Given the description of an element on the screen output the (x, y) to click on. 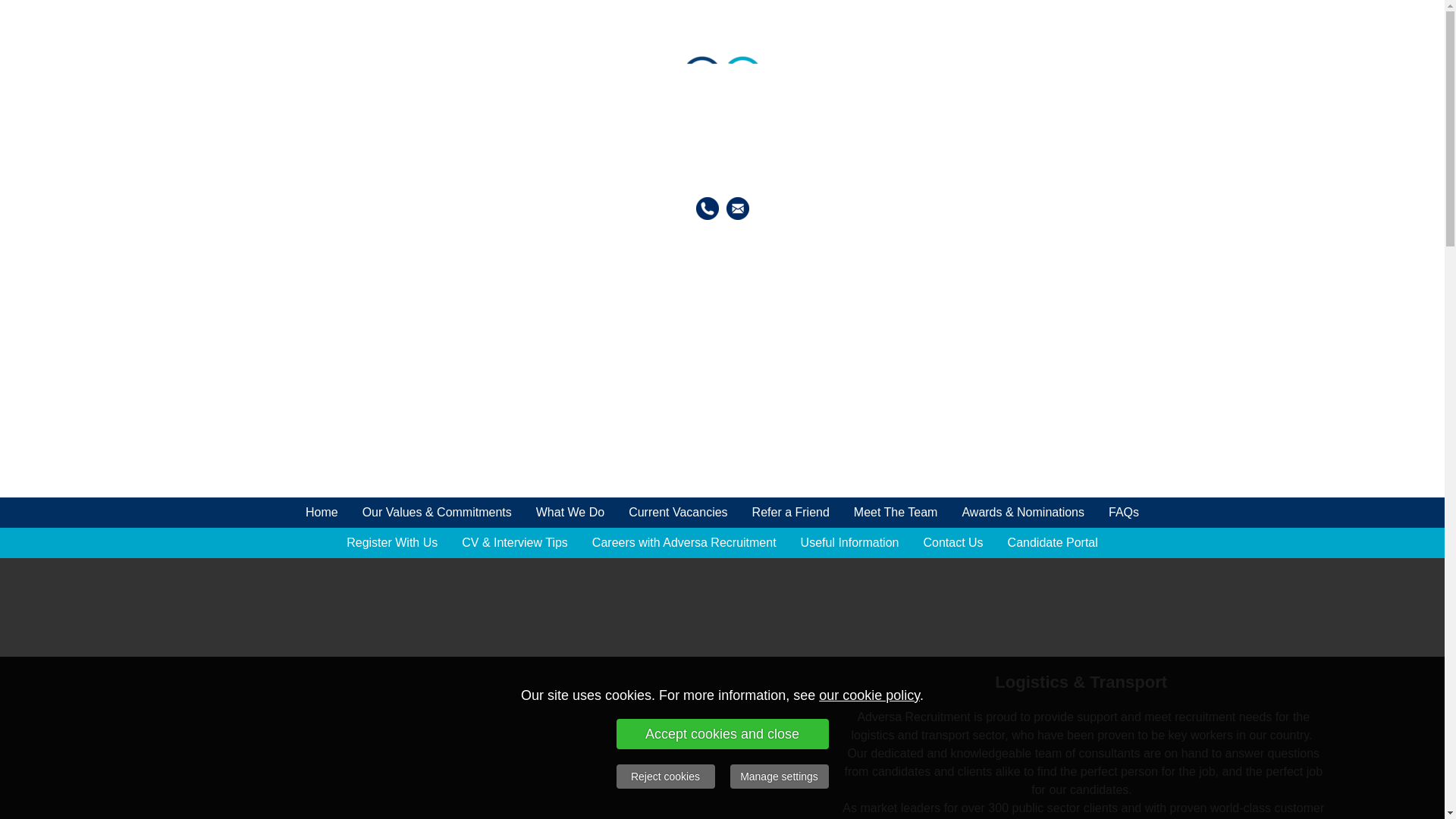
Current Vacancies (677, 512)
Register With Us (391, 542)
What We Do (569, 512)
Meet The Team (895, 512)
Contact Us (952, 542)
Home (322, 512)
FAQs (1123, 512)
Candidate Portal (1052, 542)
Refer a Friend (790, 512)
Useful Information (850, 542)
Careers with Adversa Recruitment (684, 542)
